Given the description of an element on the screen output the (x, y) to click on. 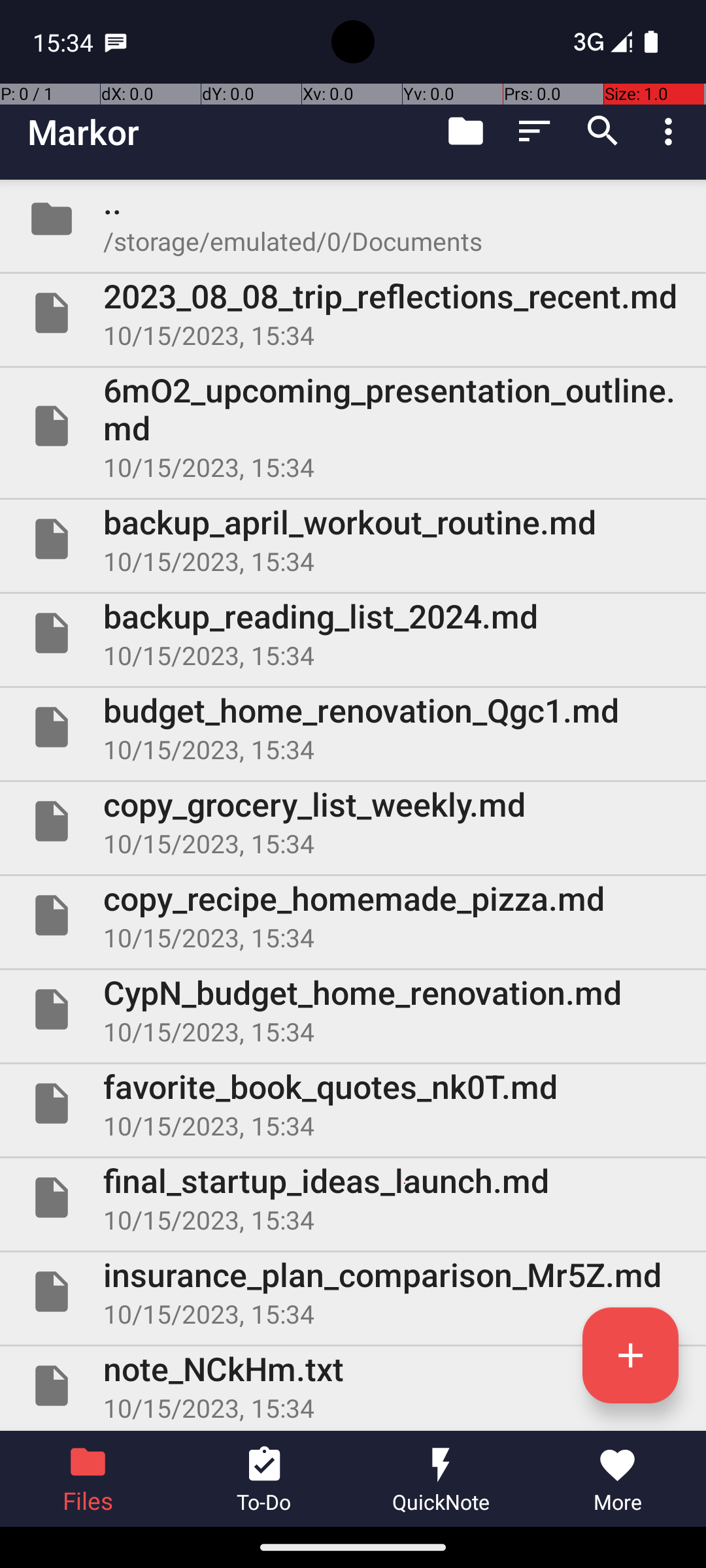
File 2023_08_08_trip_reflections_recent.md  Element type: android.widget.LinearLayout (353, 312)
File 6mO2_upcoming_presentation_outline.md  Element type: android.widget.LinearLayout (353, 425)
File backup_april_workout_routine.md  Element type: android.widget.LinearLayout (353, 538)
File backup_reading_list_2024.md  Element type: android.widget.LinearLayout (353, 632)
File budget_home_renovation_Qgc1.md  Element type: android.widget.LinearLayout (353, 726)
File copy_grocery_list_weekly.md  Element type: android.widget.LinearLayout (353, 821)
File copy_recipe_homemade_pizza.md  Element type: android.widget.LinearLayout (353, 915)
File CypN_budget_home_renovation.md  Element type: android.widget.LinearLayout (353, 1009)
File favorite_book_quotes_nk0T.md  Element type: android.widget.LinearLayout (353, 1103)
File final_startup_ideas_launch.md  Element type: android.widget.LinearLayout (353, 1197)
File insurance_plan_comparison_Mr5Z.md  Element type: android.widget.LinearLayout (353, 1291)
File note_NCkHm.txt  Element type: android.widget.LinearLayout (353, 1385)
